Given the description of an element on the screen output the (x, y) to click on. 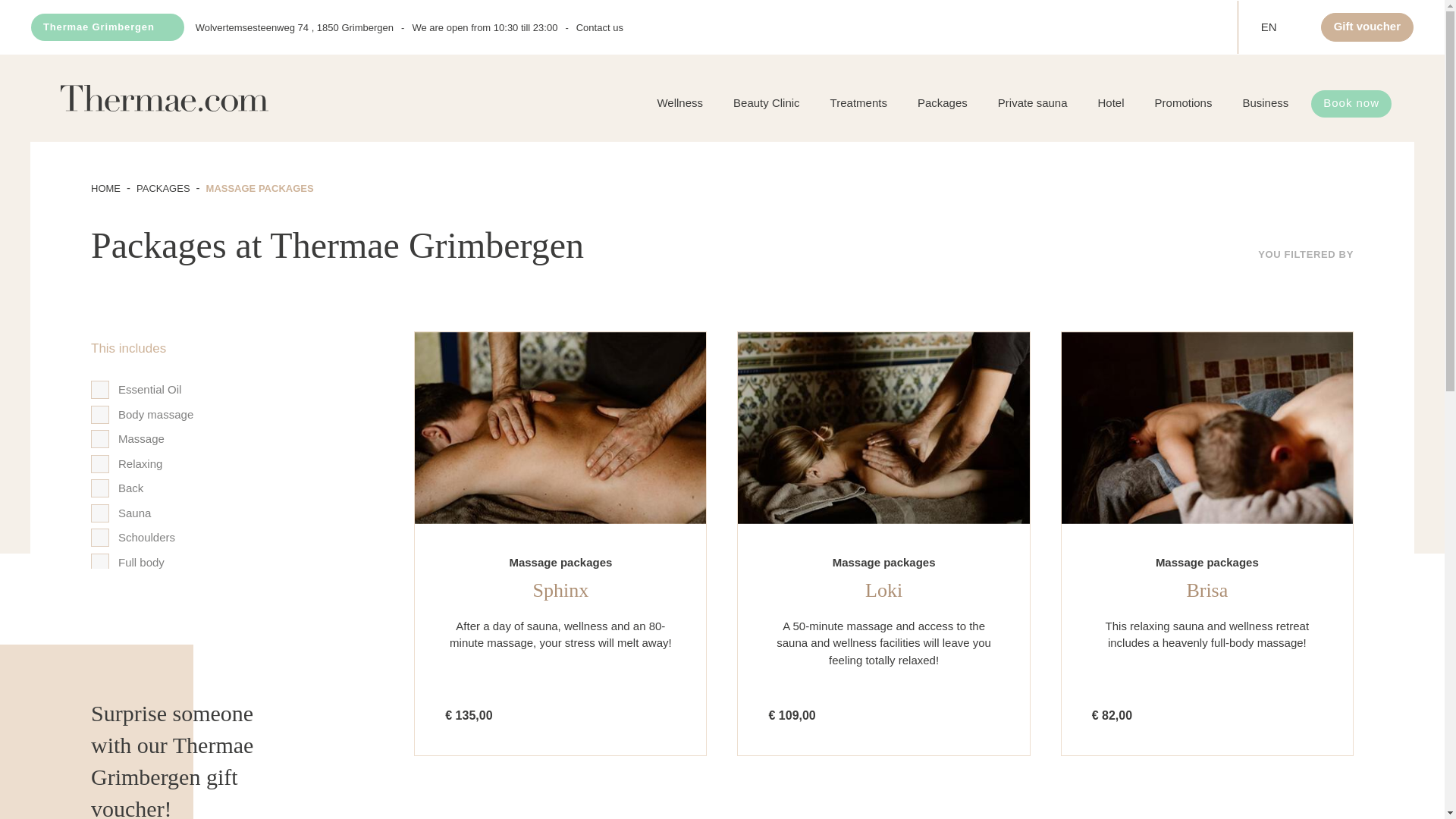
EN (1278, 27)
Book now (1351, 103)
Contact us (599, 27)
Packages (942, 102)
Gift voucher (1366, 27)
Private sauna (1032, 102)
Business (1265, 102)
Promotions (1183, 102)
Beauty Clinic (766, 102)
Wellness (679, 102)
Thermae Grimbergen (107, 26)
Treatments (858, 102)
